Given the description of an element on the screen output the (x, y) to click on. 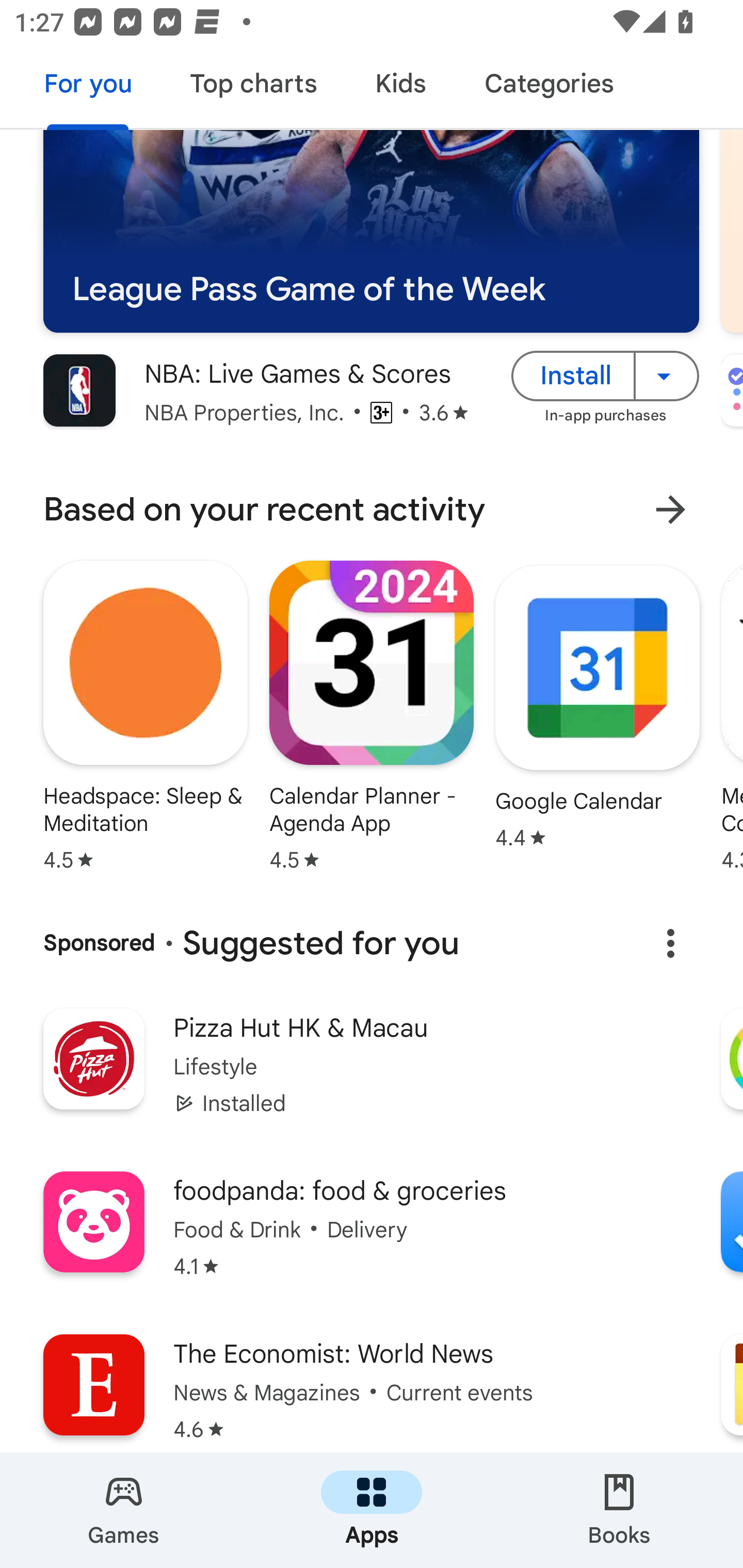
Top charts (253, 86)
Kids (400, 86)
Categories (548, 86)
League Pass Game of the Week (371, 231)
Install Install Install on more devices (605, 375)
Install on more devices (666, 375)
More results for Based on your recent activity (670, 509)
Headspace: Sleep & Meditation
Star rating: 4.5
 (145, 715)
Calendar Planner - Agenda App
Star rating: 4.5
 (371, 715)
Google Calendar
Star rating: 4.4
 (597, 706)
About this ad (670, 943)
Pizza Hut HK & Macau
Lifestyle
Installed
 (371, 1075)
Games (123, 1509)
Books (619, 1509)
